Given the description of an element on the screen output the (x, y) to click on. 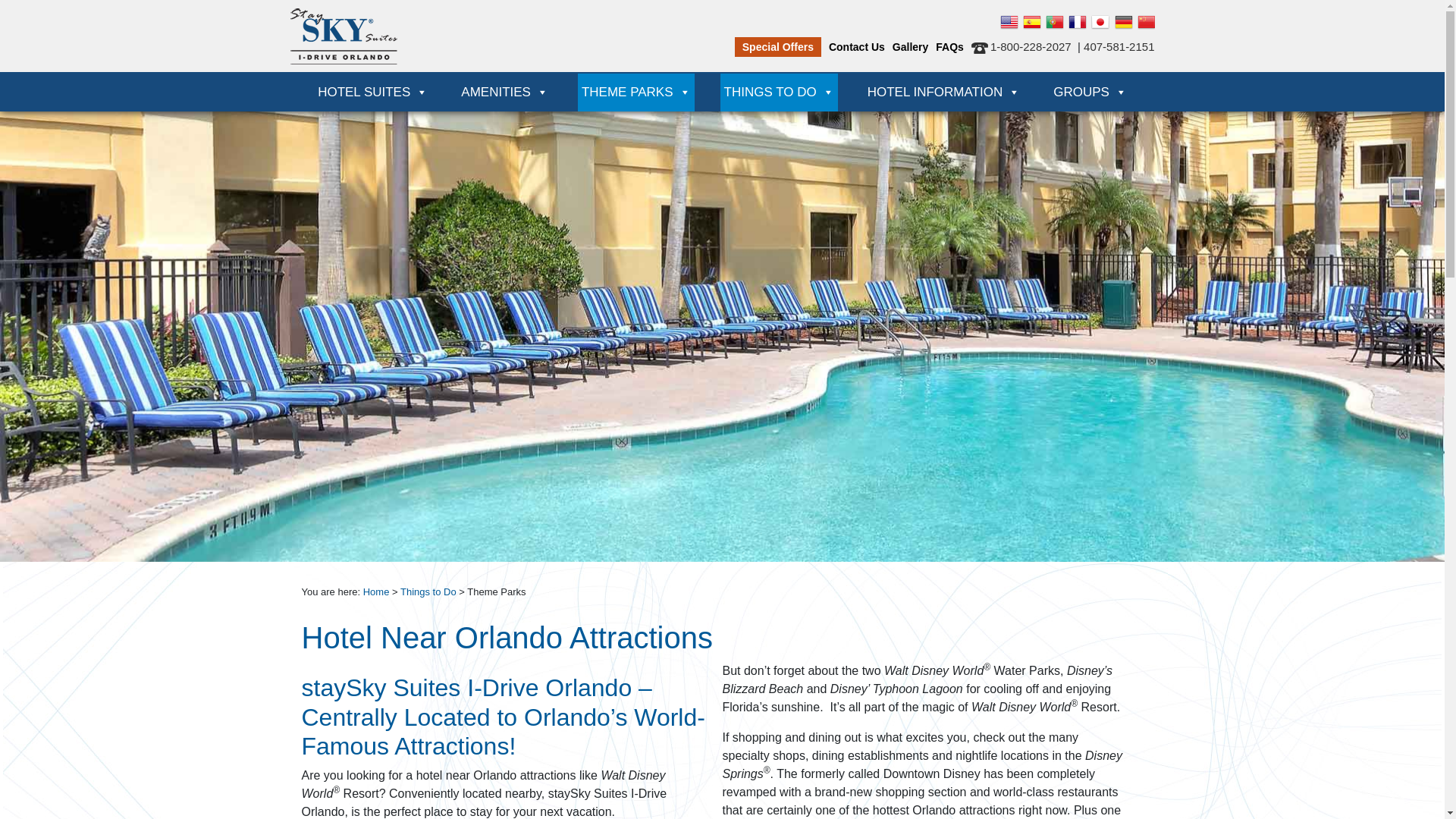
AMENITIES (504, 92)
HOTEL SUITES (372, 92)
THEME PARKS (636, 92)
Portuguese (1051, 22)
Special Offers (778, 46)
Contact Us (856, 40)
1-800-228-2027 (1021, 45)
407-581-2151 (1118, 45)
Spanish (1029, 22)
English (1005, 22)
